Given the description of an element on the screen output the (x, y) to click on. 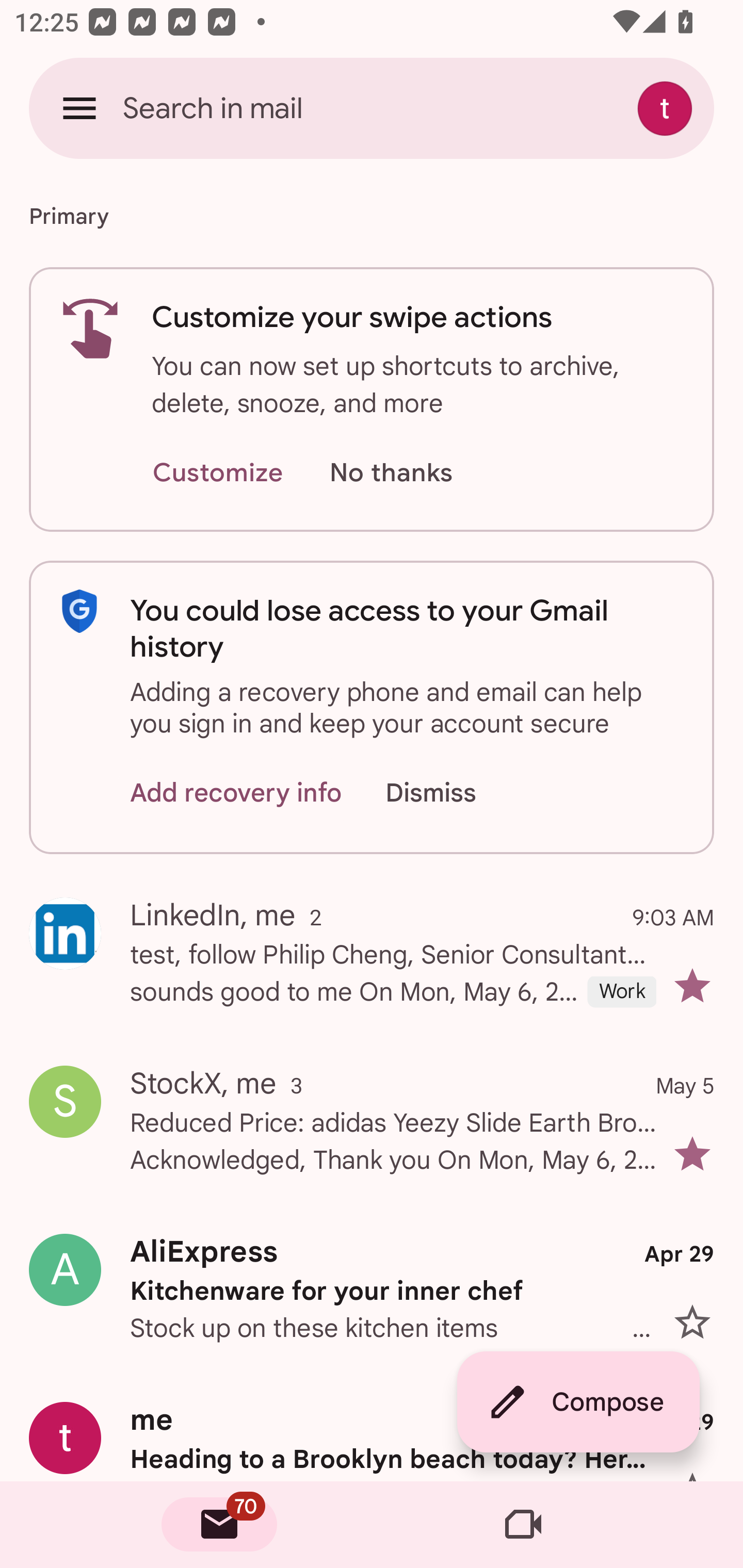
Open navigation drawer (79, 108)
Customize (217, 473)
No thanks (390, 473)
Add recovery info (235, 792)
Dismiss (449, 792)
Compose (577, 1401)
Meet (523, 1524)
